Given the description of an element on the screen output the (x, y) to click on. 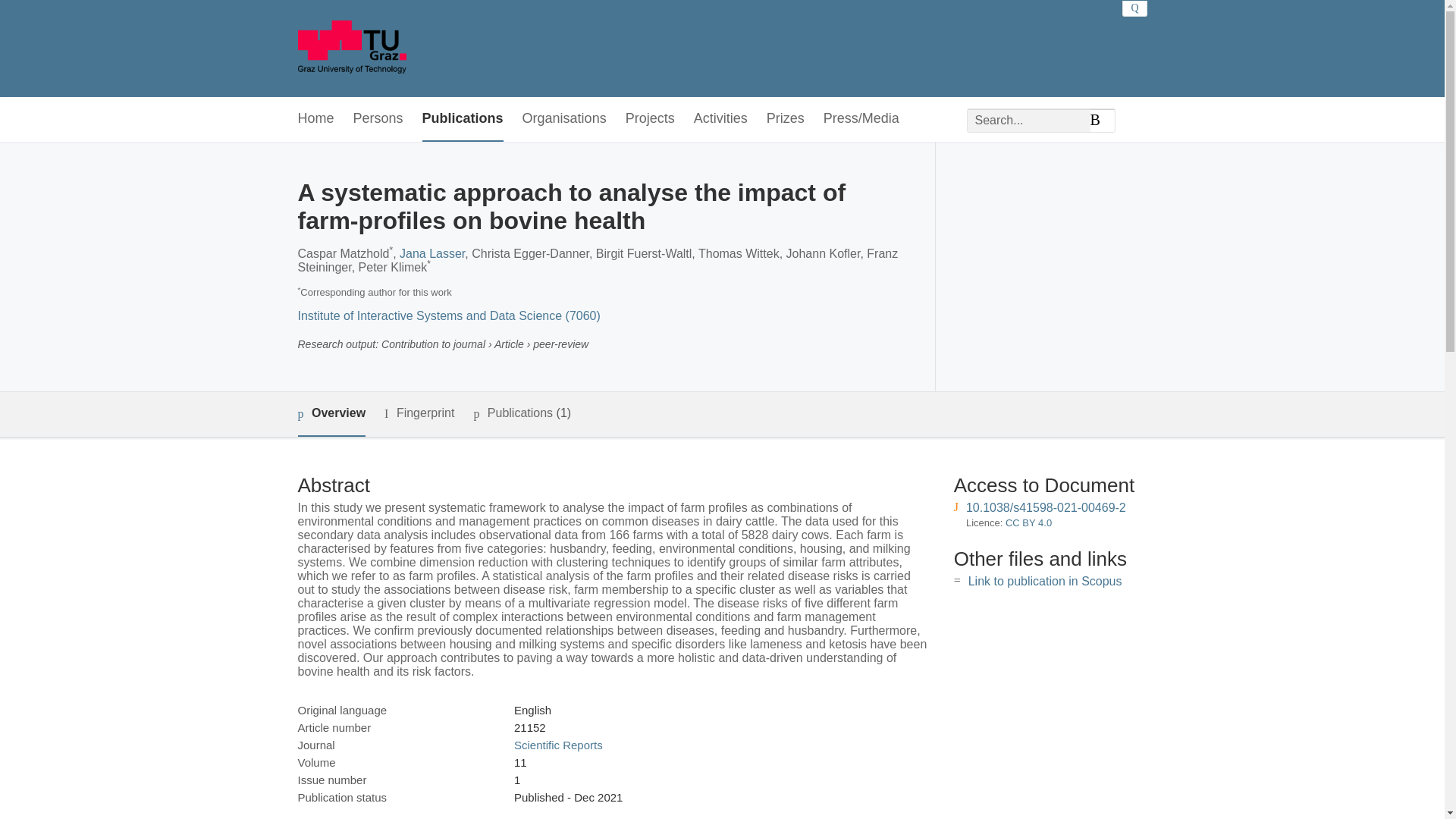
Organisations (564, 119)
Overview (331, 414)
Jana Lasser (431, 253)
Activities (721, 119)
Scientific Reports (557, 744)
Projects (650, 119)
Graz University of Technology Home (351, 48)
Publications (462, 119)
Persons (378, 119)
